Given the description of an element on the screen output the (x, y) to click on. 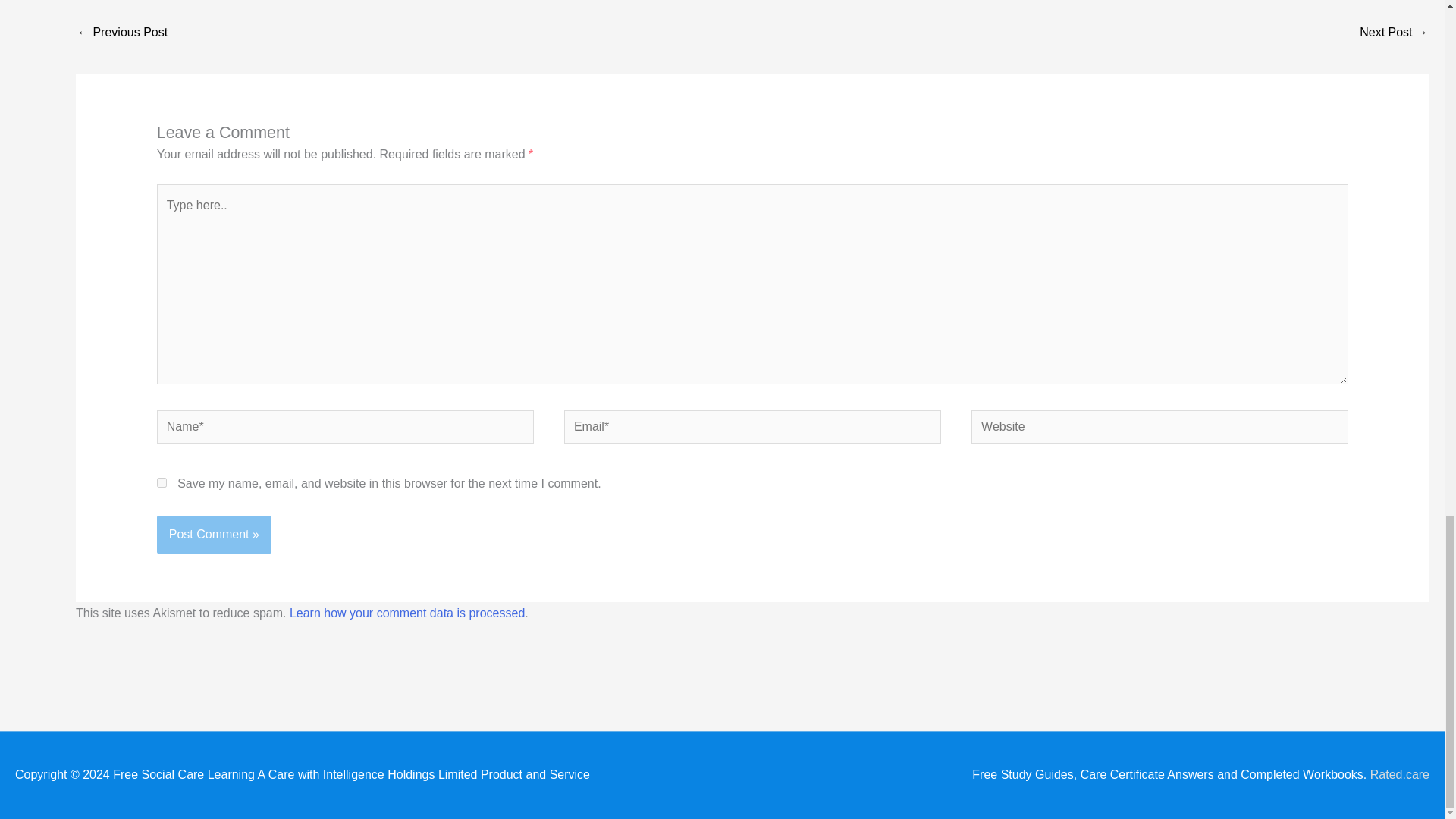
yes (162, 482)
How to Get the Most from Your eLearning for Care (122, 33)
Are you ready for winter weather in your home care business? (1393, 33)
